Given the description of an element on the screen output the (x, y) to click on. 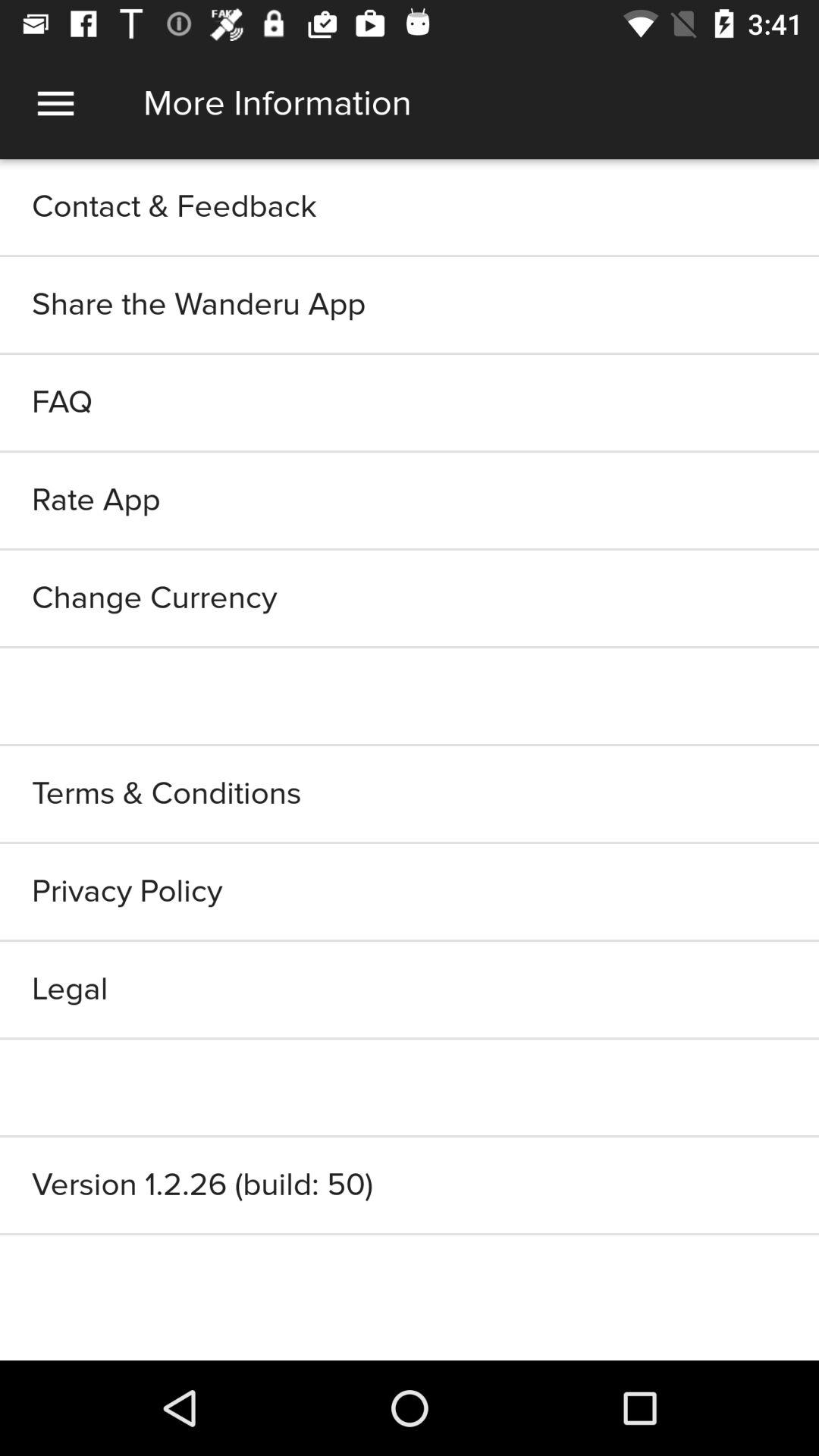
click item next to the more information (55, 103)
